Given the description of an element on the screen output the (x, y) to click on. 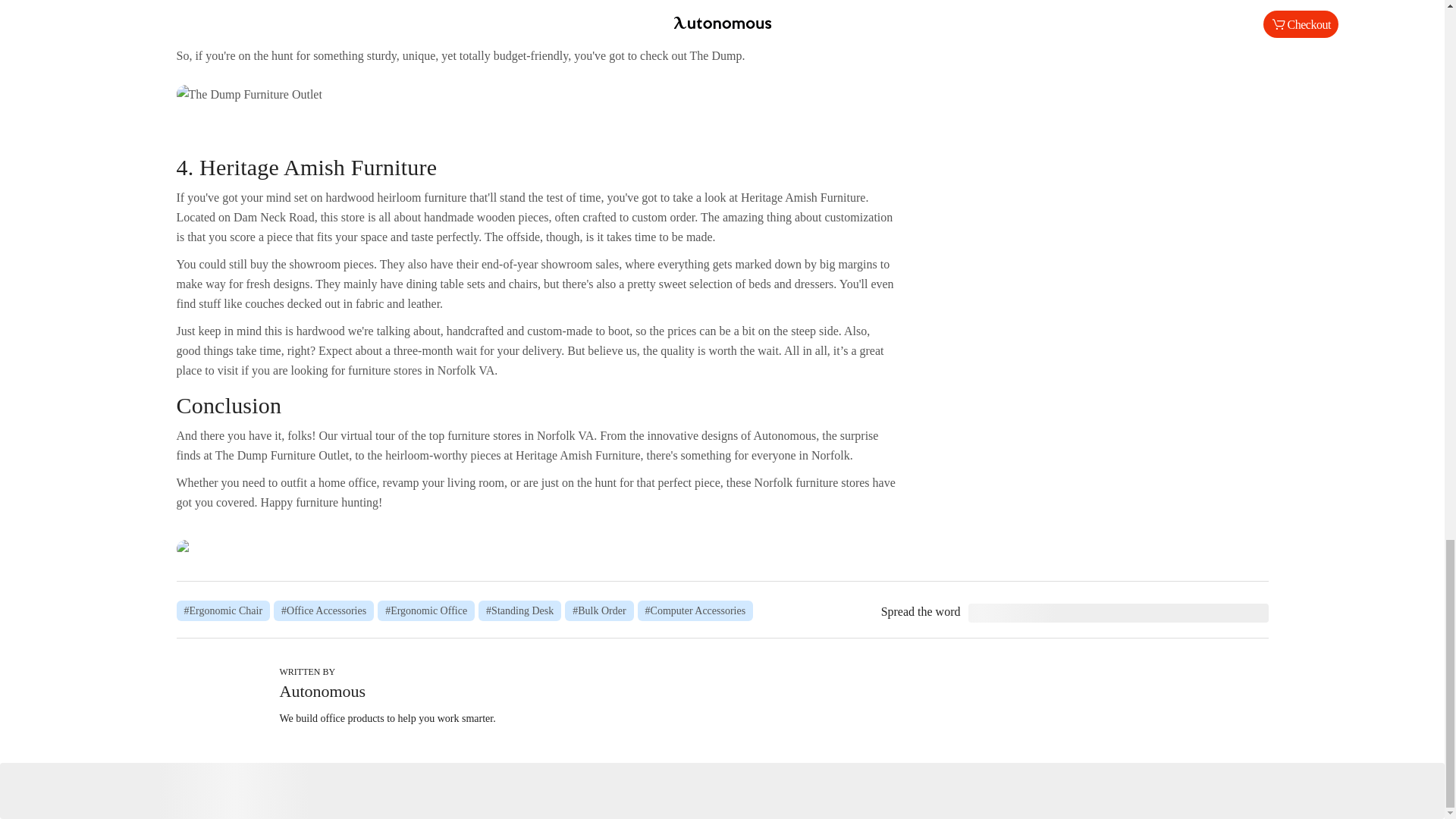
Autonomous Chair Ultra - First 3D-Printed Chair (536, 547)
